Given the description of an element on the screen output the (x, y) to click on. 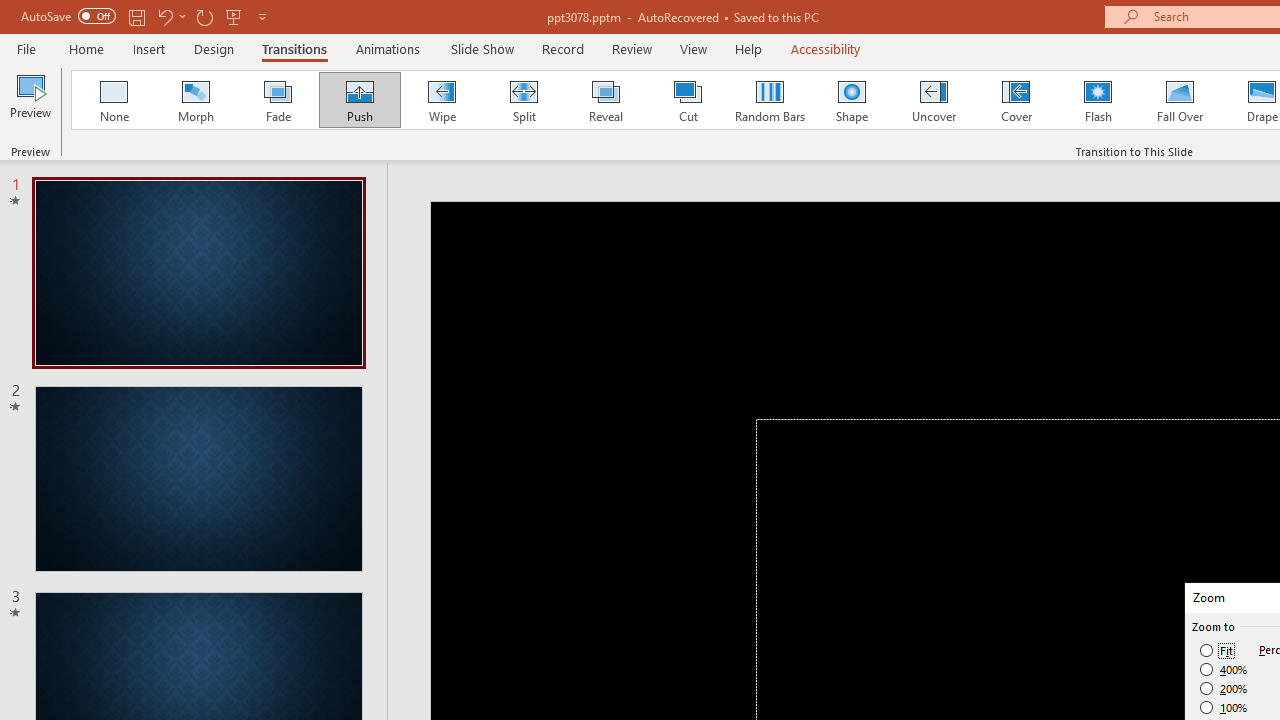
Fall Over (1180, 100)
200% (1224, 688)
Morph (195, 100)
